Given the description of an element on the screen output the (x, y) to click on. 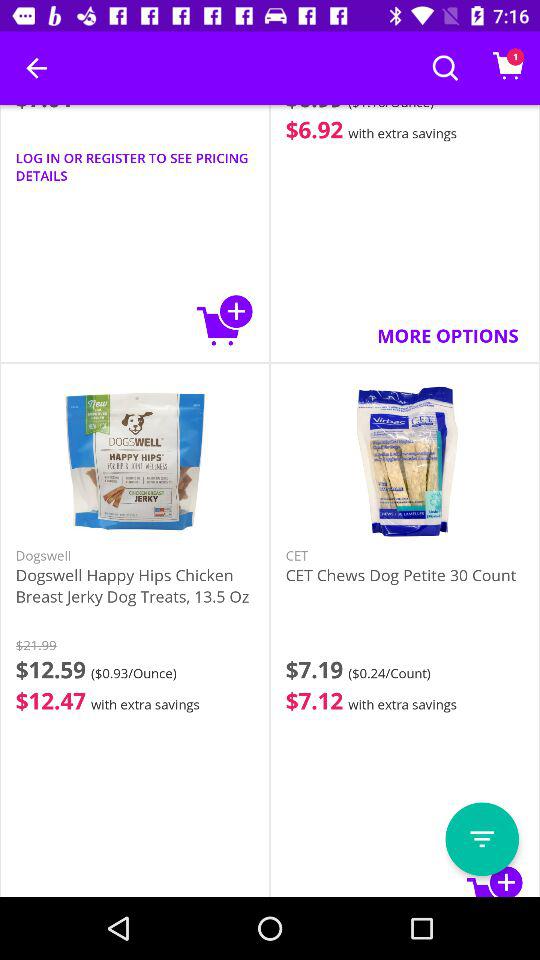
add to cart (495, 879)
